Given the description of an element on the screen output the (x, y) to click on. 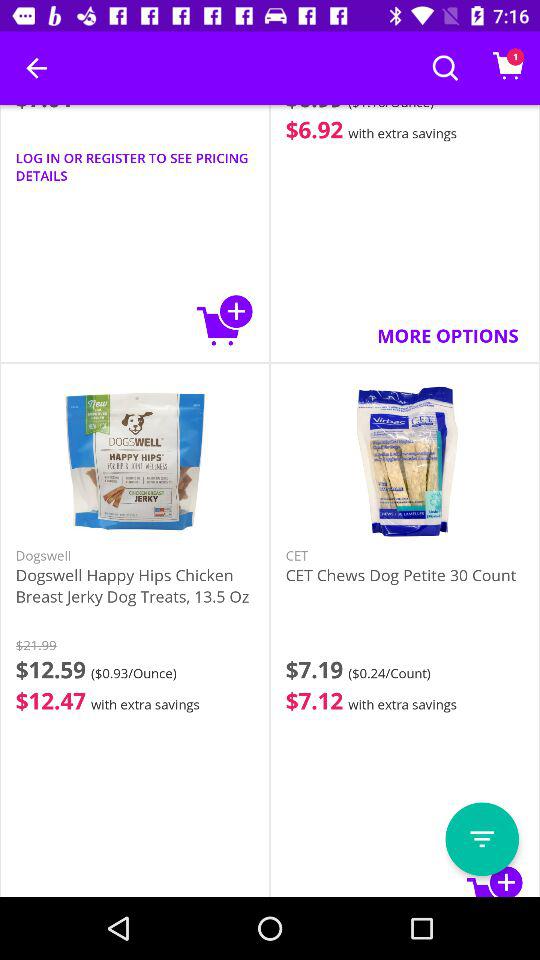
add to cart (495, 879)
